Given the description of an element on the screen output the (x, y) to click on. 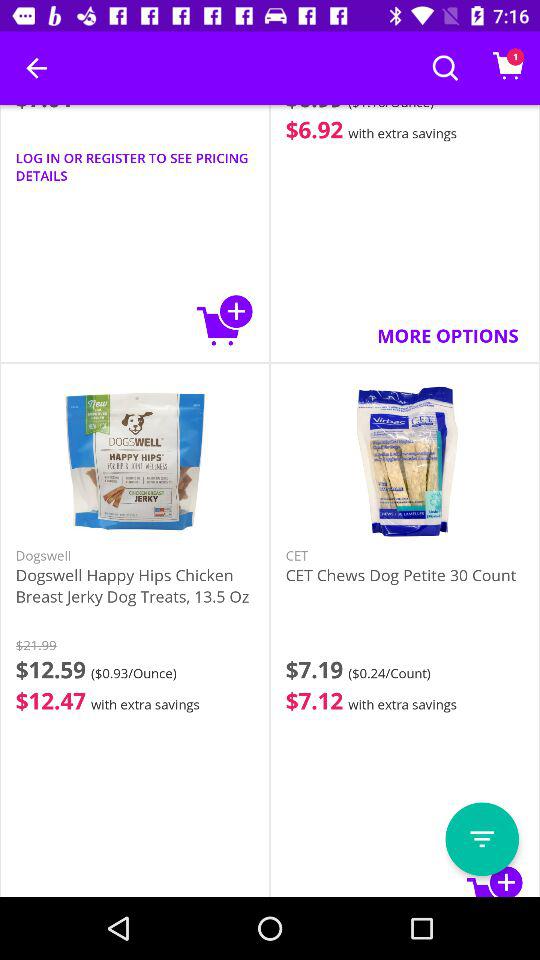
add to cart (495, 879)
